Given the description of an element on the screen output the (x, y) to click on. 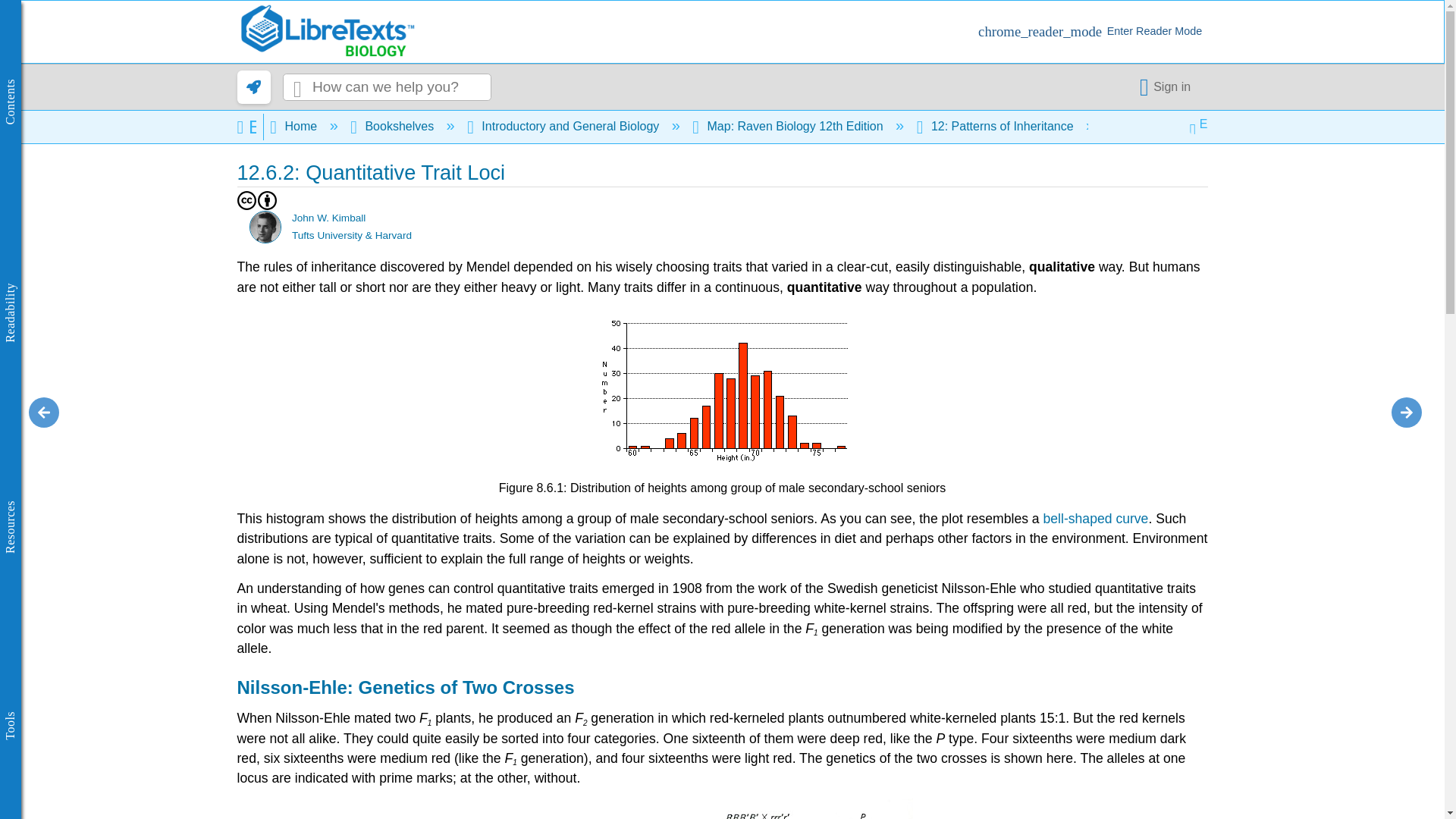
John W. Kimball (265, 226)
BY (266, 199)
Single Sign-On (1167, 86)
CC (246, 199)
